Given the description of an element on the screen output the (x, y) to click on. 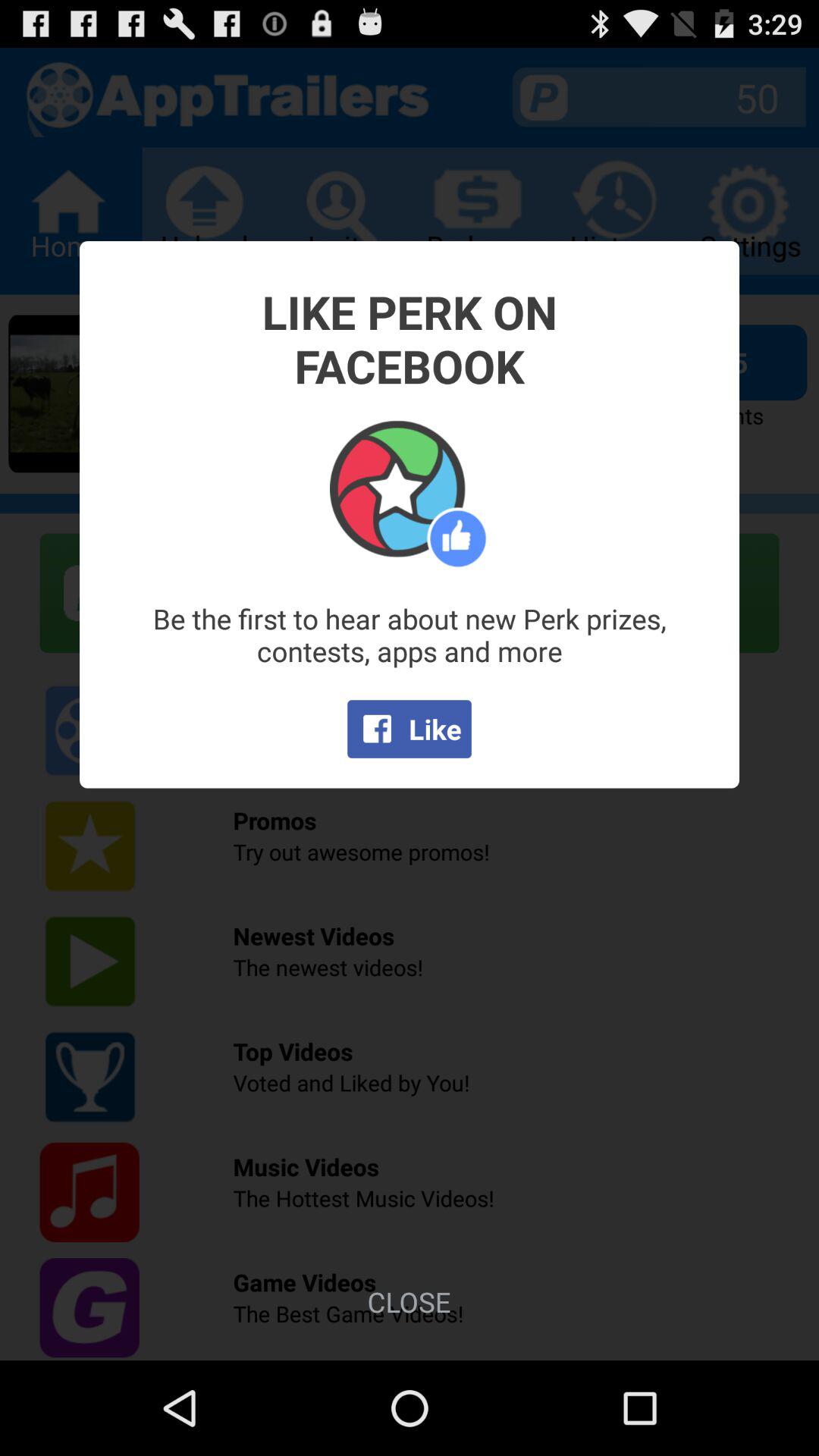
select app at the bottom (409, 1301)
